Given the description of an element on the screen output the (x, y) to click on. 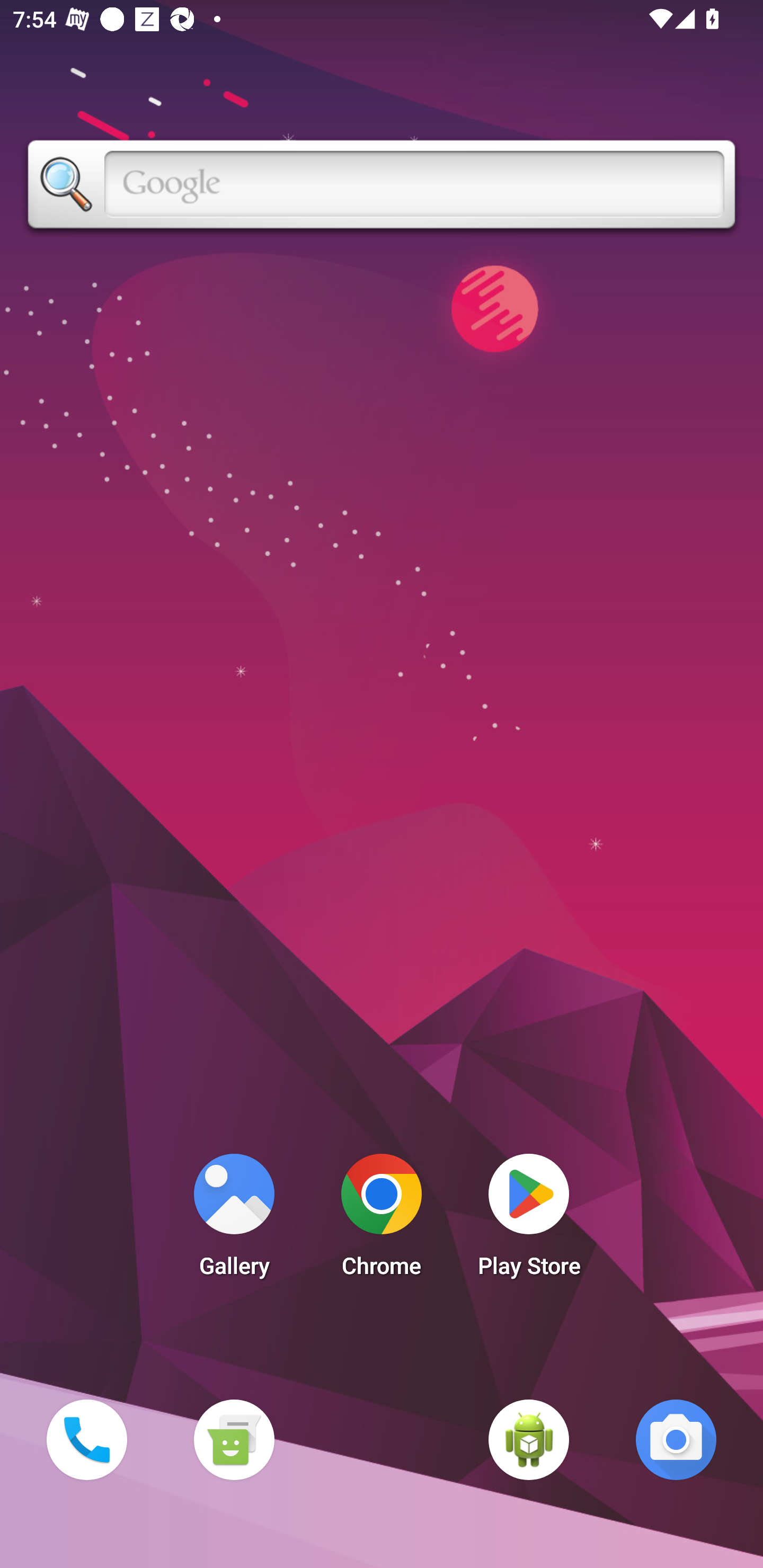
Gallery (233, 1220)
Chrome (381, 1220)
Play Store (528, 1220)
Phone (86, 1439)
Messaging (233, 1439)
WebView Browser Tester (528, 1439)
Camera (676, 1439)
